Given the description of an element on the screen output the (x, y) to click on. 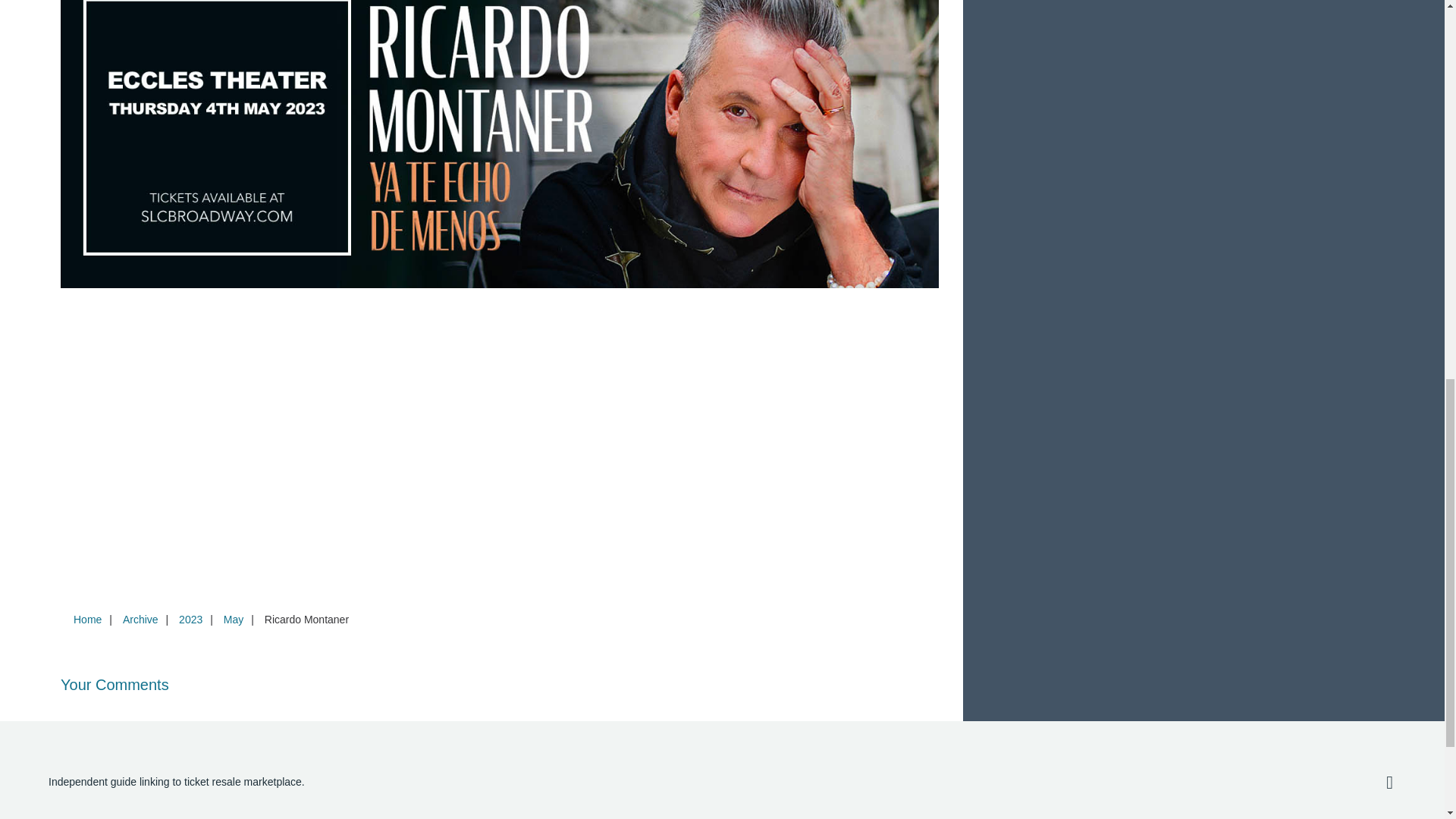
Archive (140, 619)
2023 (190, 619)
May (232, 619)
Home (87, 619)
